Given the description of an element on the screen output the (x, y) to click on. 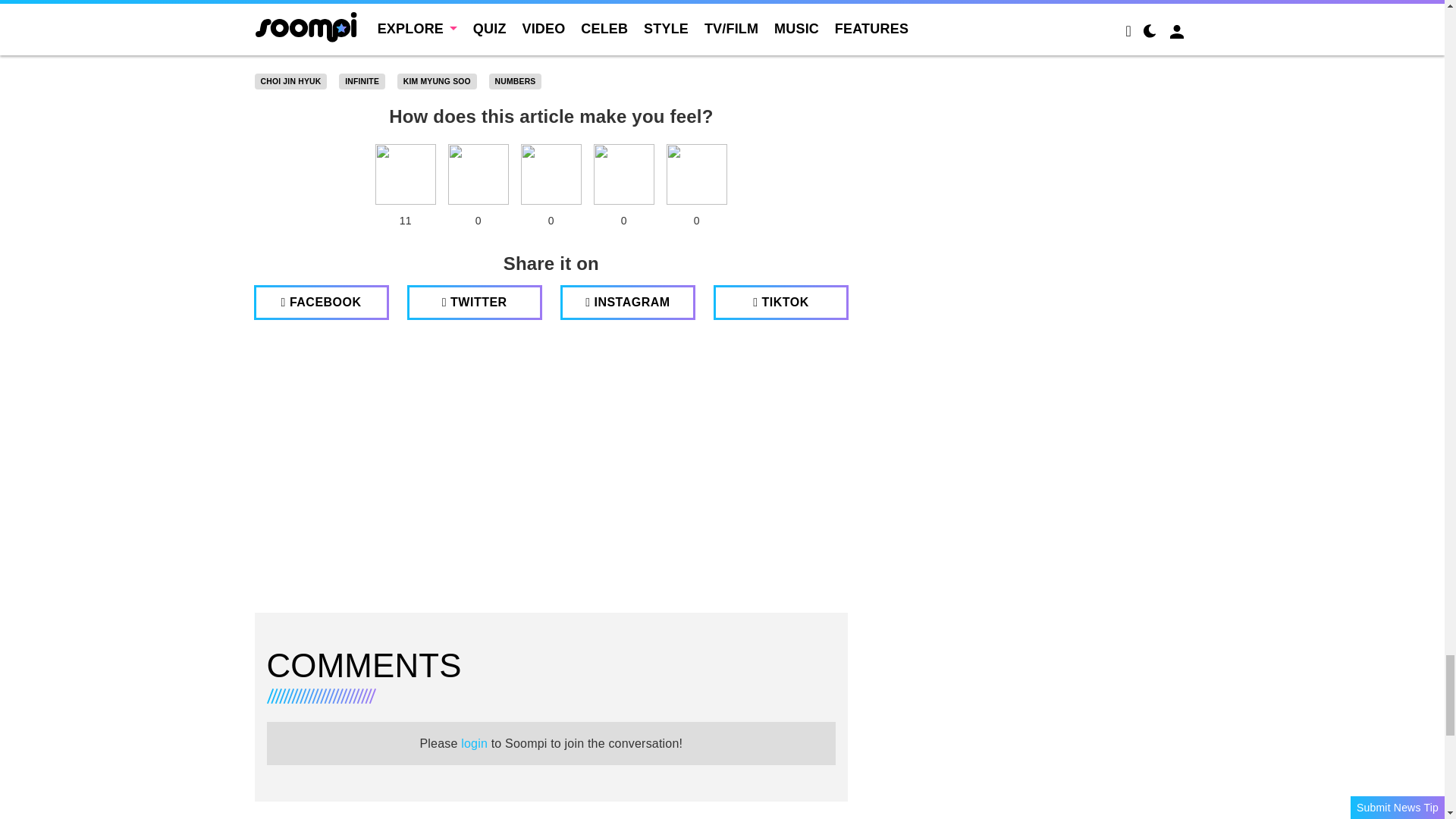
Kim Myung Soo (437, 81)
Numbers (515, 81)
LOL (478, 174)
Heart (405, 174)
Choi Jin Hyuk (290, 81)
INFINITE (362, 81)
OMG (696, 174)
Fire (550, 174)
Crying (623, 174)
CHOI JIN HYUK (290, 81)
